Given the description of an element on the screen output the (x, y) to click on. 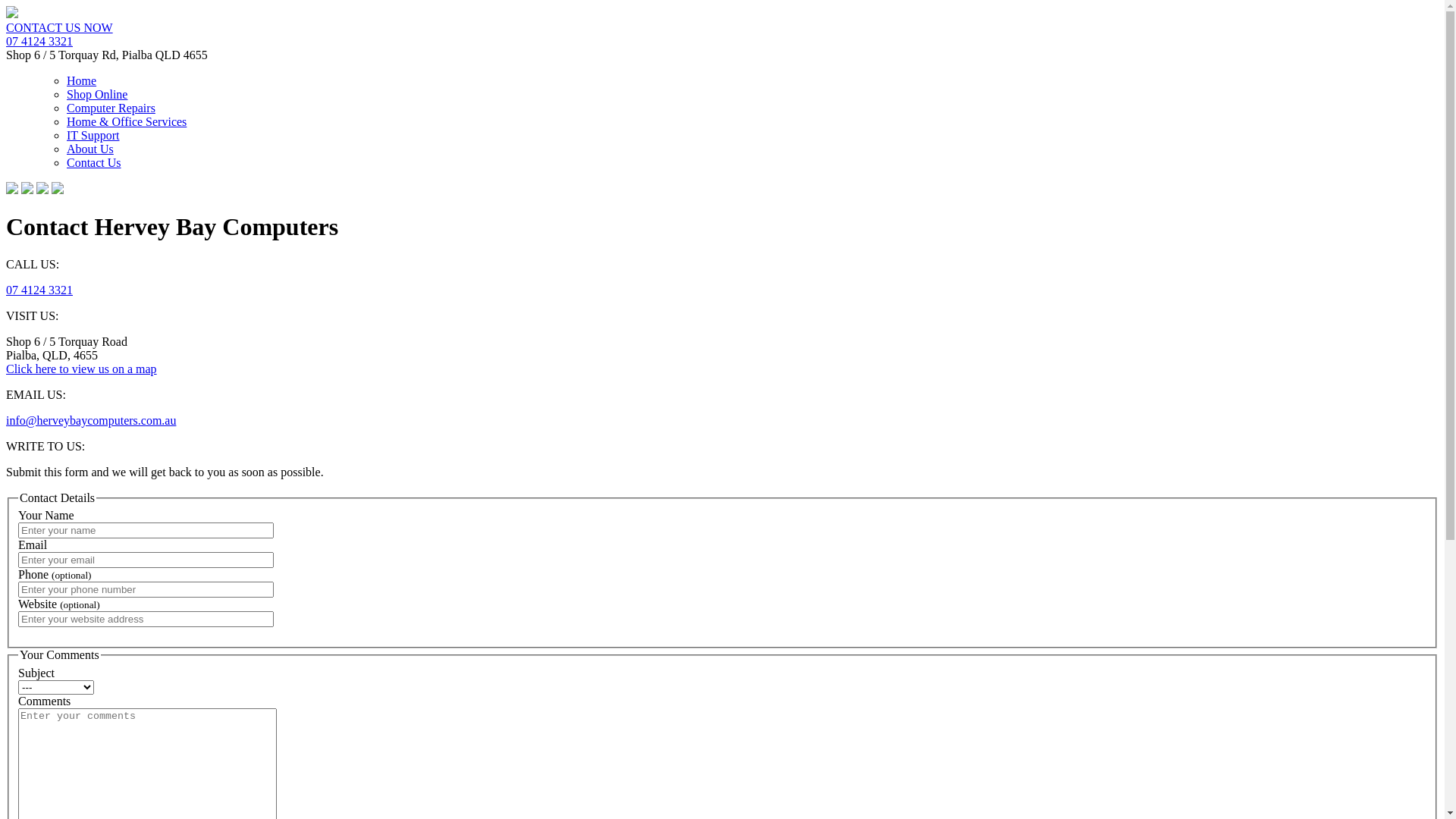
Home Element type: text (81, 80)
CONTACT US NOW Element type: text (59, 27)
Shop Online Element type: text (96, 93)
Computer Repairs Element type: text (110, 107)
About Us Element type: text (89, 148)
Home & Office Services Element type: text (126, 121)
IT Support Element type: text (92, 134)
Shop 6 / 5 Torquay Rd, Pialba QLD 4655 Element type: text (106, 54)
info@herveybaycomputers.com.au Element type: text (90, 420)
07 4124 3321 Element type: text (39, 40)
Contact Us Element type: text (93, 162)
07 4124 3321 Element type: text (39, 289)
Click here to view us on a map Element type: text (81, 368)
